Given the description of an element on the screen output the (x, y) to click on. 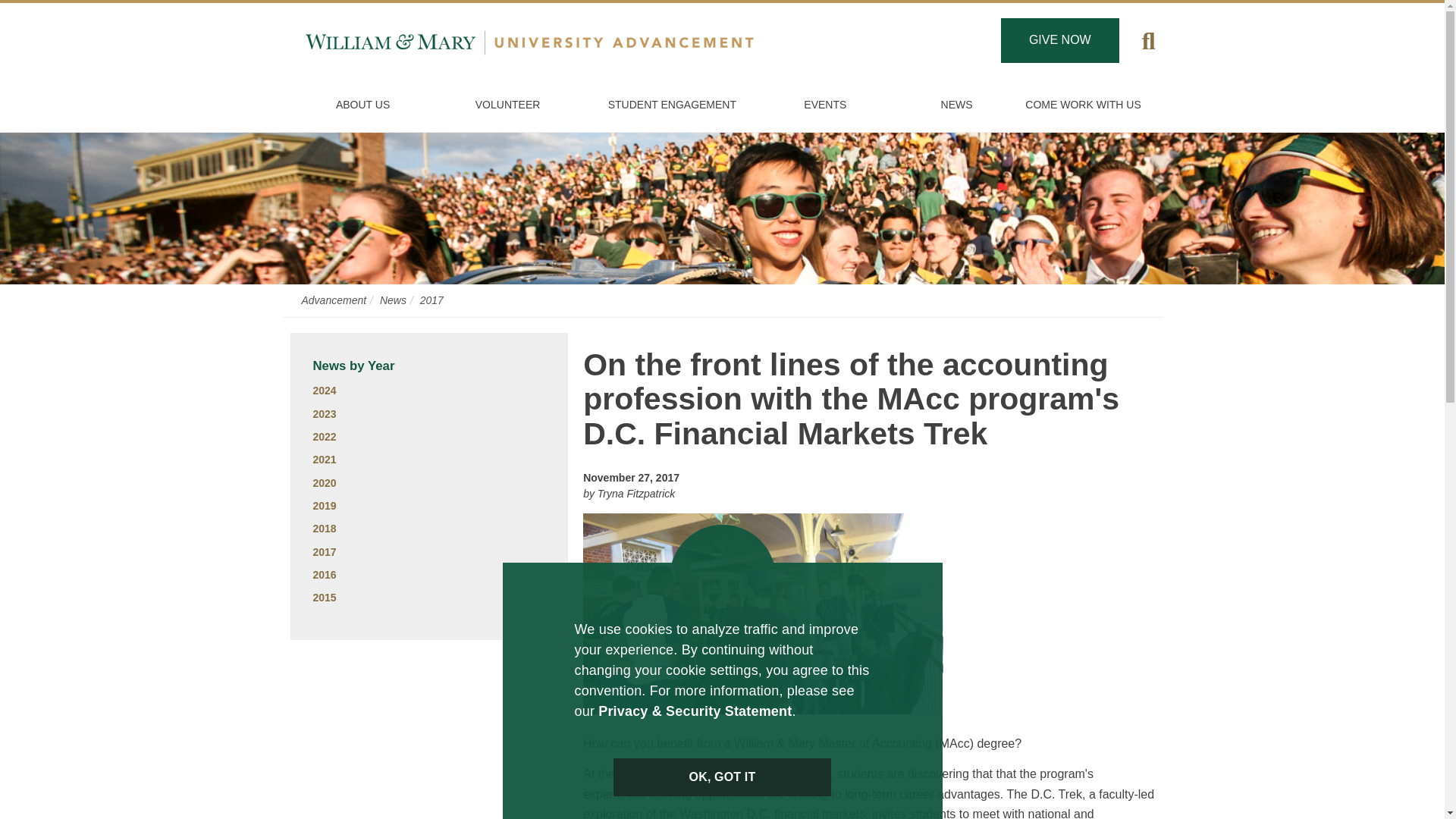
News (956, 104)
COME WORK WITH US (1083, 104)
VOLUNTEER (507, 104)
Events (824, 104)
ABOUT US (362, 104)
Come Work With Us (1083, 104)
2024 (324, 390)
Advancement (333, 300)
2023 (324, 413)
NEWS (956, 104)
